Given the description of an element on the screen output the (x, y) to click on. 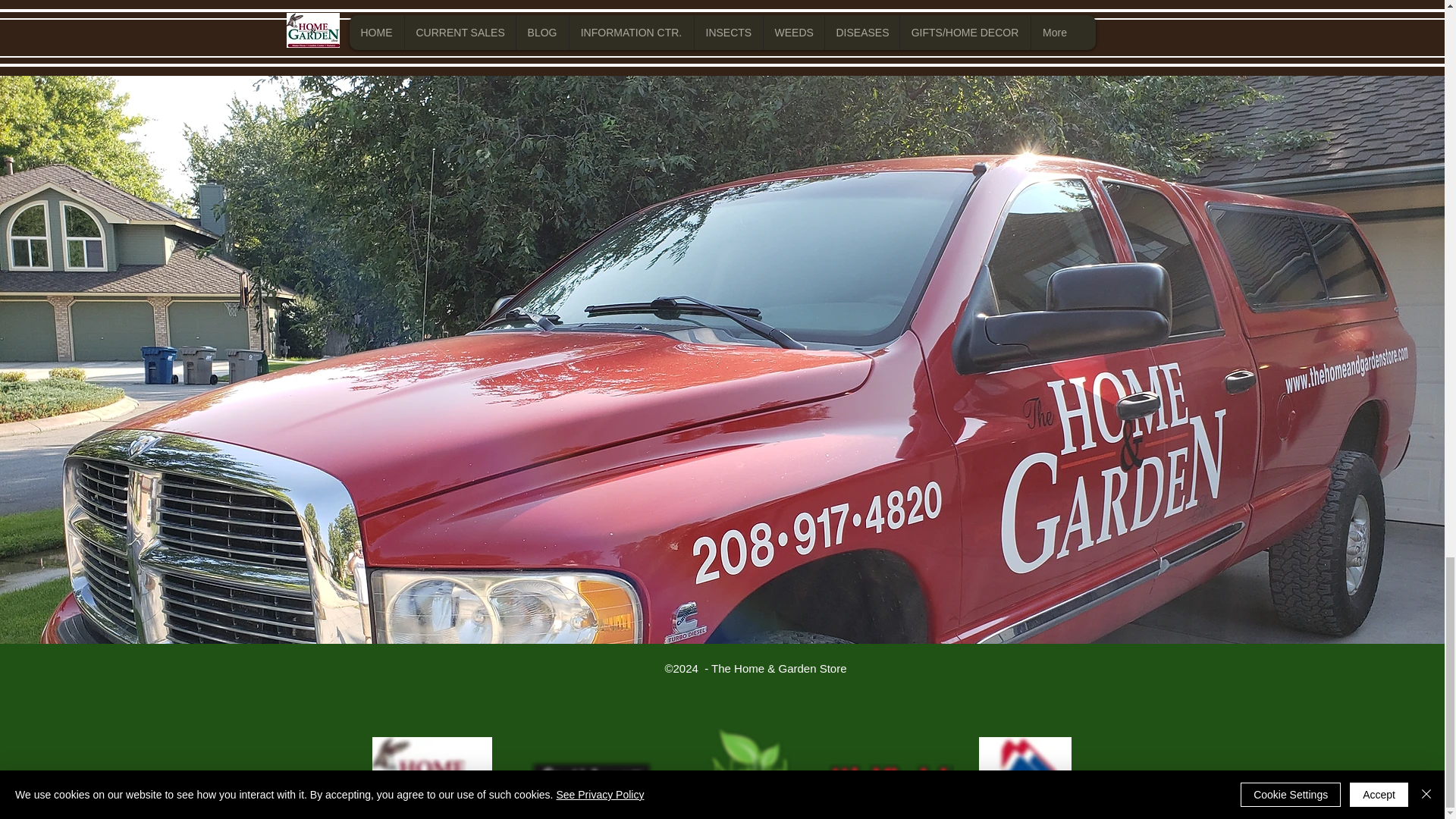
logo (431, 771)
IFA logo (1024, 773)
Hi-Yield Logo  (890, 783)
Natural Guard Logo  (746, 766)
